Given the description of an element on the screen output the (x, y) to click on. 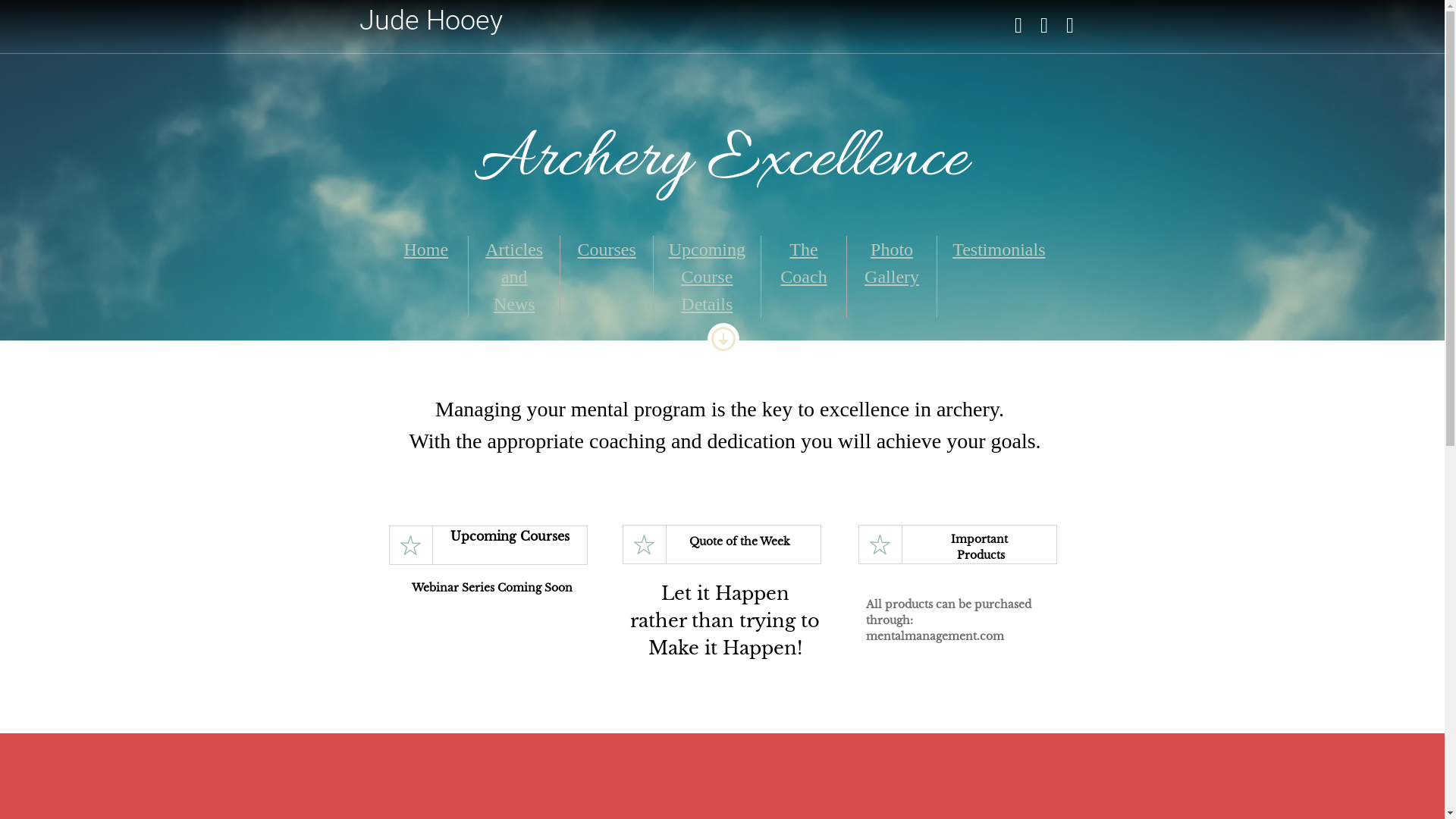
Courses Element type: text (606, 249)
Testimonials Element type: text (998, 249)
Enter text Element type: text (1043, 28)
Articles and News Element type: text (513, 276)
Enter text Element type: text (1069, 28)
Enter text Element type: text (1017, 28)
Photo Gallery Element type: text (891, 262)
Home Element type: text (425, 249)
The Coach Element type: text (803, 262)
Upcoming Course Details Element type: text (706, 276)
